Given the description of an element on the screen output the (x, y) to click on. 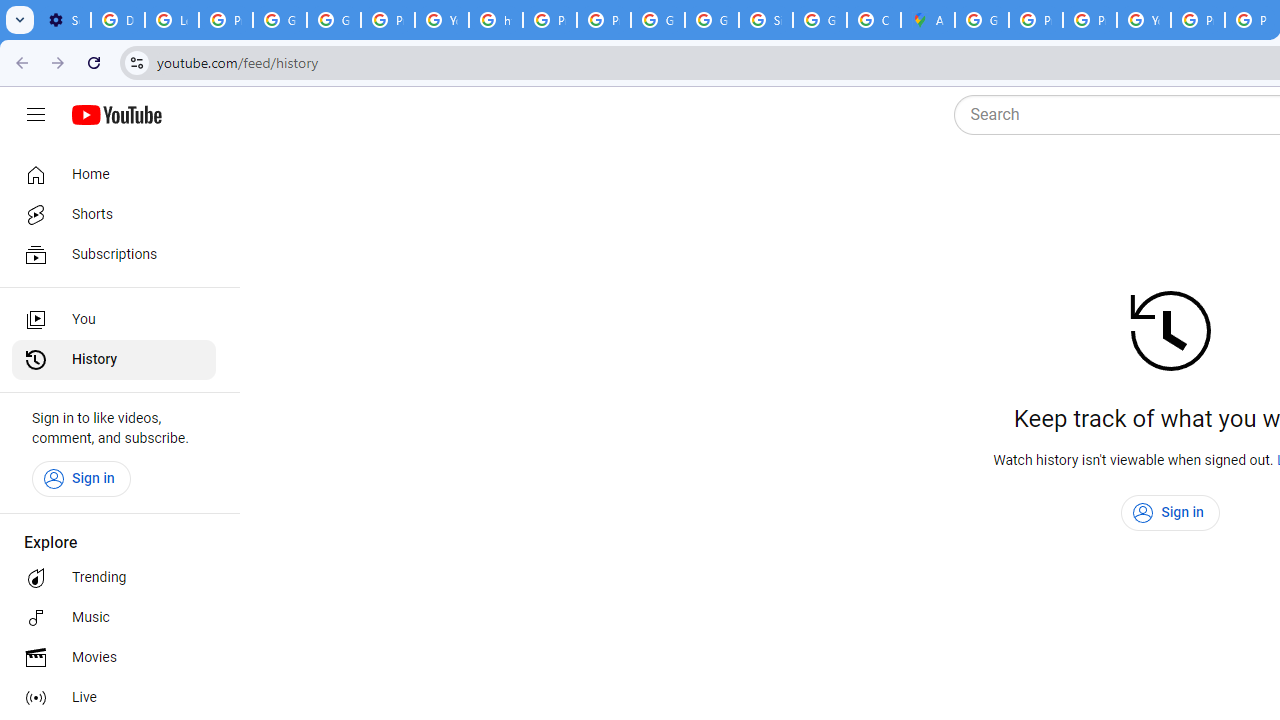
YouTube (441, 20)
Google Account Help (280, 20)
YouTube Home (116, 115)
Movies (113, 657)
Privacy Help Center - Policies Help (1089, 20)
